Given the description of an element on the screen output the (x, y) to click on. 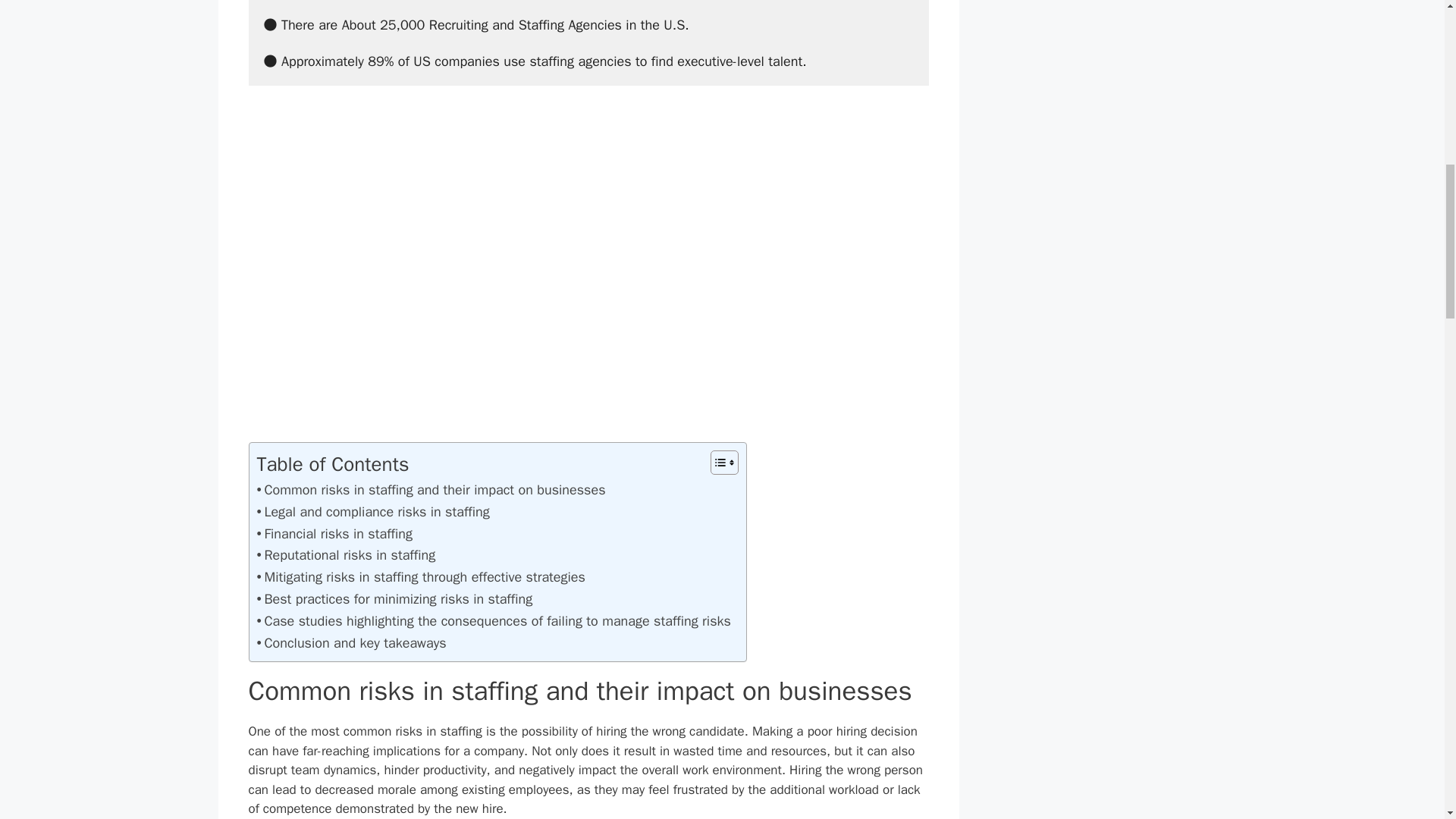
Mitigating risks in staffing through effective strategies (420, 577)
Financial risks in staffing (334, 534)
Reputational risks in staffing (345, 555)
Mitigating risks in staffing through effective strategies (420, 577)
Best practices for minimizing risks in staffing (394, 599)
Legal and compliance risks in staffing (372, 512)
Legal and compliance risks in staffing (372, 512)
Best practices for minimizing risks in staffing (394, 599)
Financial risks in staffing (334, 534)
Common risks in staffing and their impact on businesses (430, 490)
Conclusion and key takeaways (350, 643)
Conclusion and key takeaways (350, 643)
Reputational risks in staffing (345, 555)
